Given the description of an element on the screen output the (x, y) to click on. 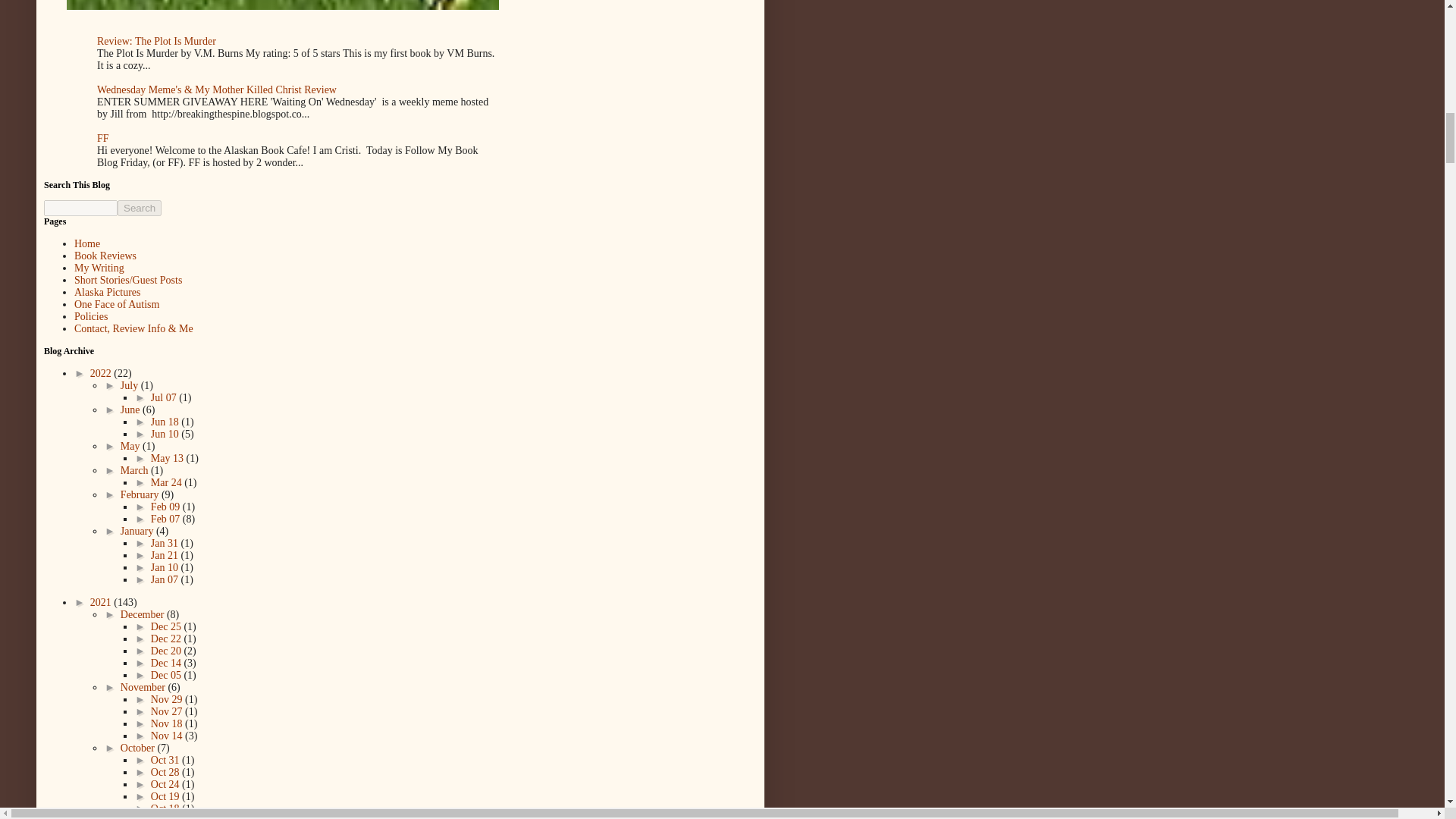
Search (139, 207)
Review: The Plot Is Murder (156, 41)
Search (139, 207)
2022 (102, 373)
One Face of Autism (116, 304)
My Writing (98, 267)
FF (103, 138)
Home (87, 243)
July (130, 385)
Policies (90, 316)
Search (139, 207)
Book Reviews (105, 255)
search (139, 207)
search (80, 207)
Alaska Pictures (106, 292)
